Given the description of an element on the screen output the (x, y) to click on. 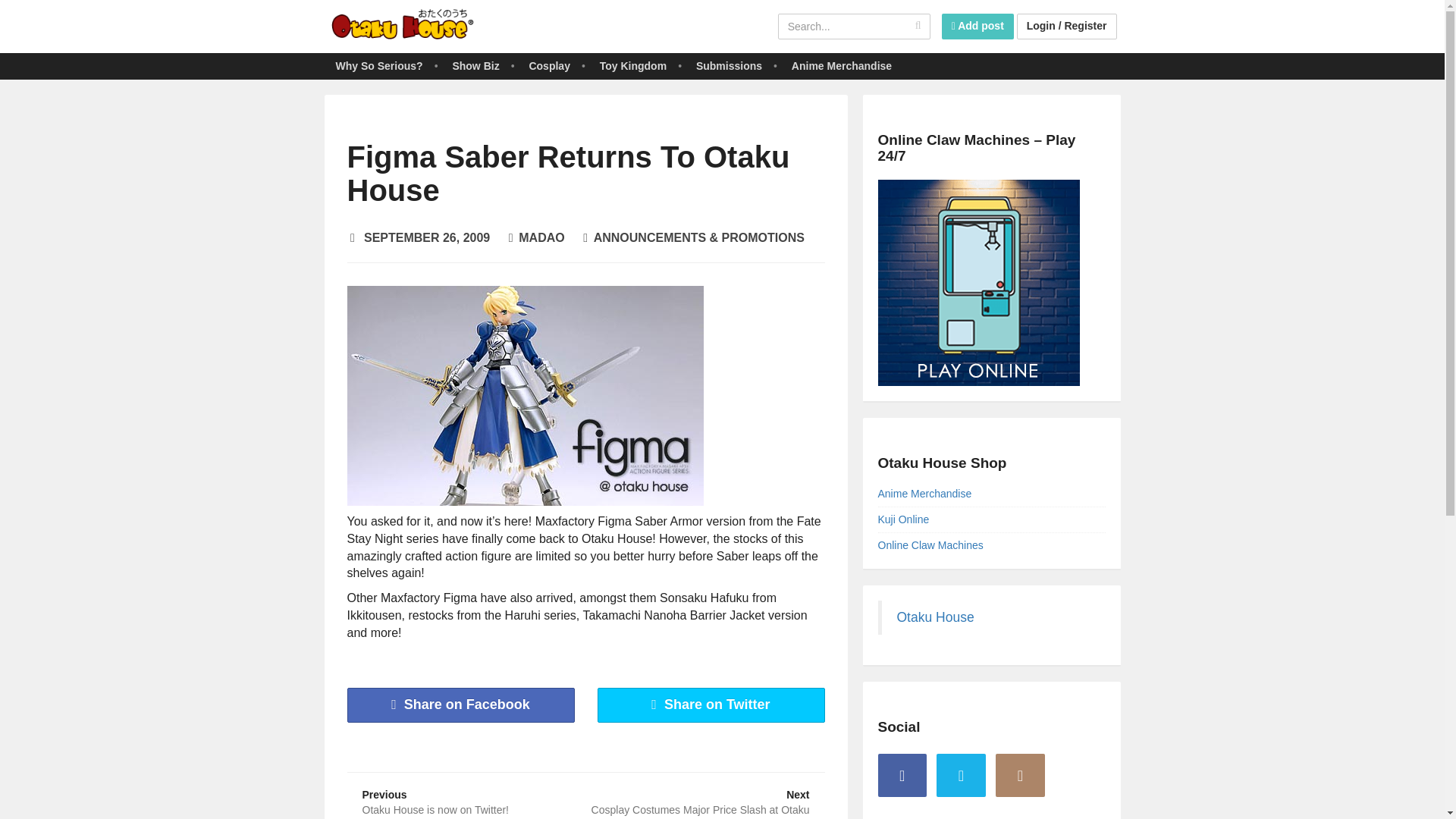
Otaku House (403, 26)
Cosplay (548, 65)
Show Biz (475, 65)
Cosplay (548, 65)
Anime Merchandise (841, 65)
Submissions (729, 65)
Kuji Online (903, 519)
Anime Merchandise (704, 796)
Share on Facebook (466, 796)
Why So Serious? (924, 493)
Show Biz (461, 704)
Toy Kingdom (378, 65)
Add post (475, 65)
